Given the description of an element on the screen output the (x, y) to click on. 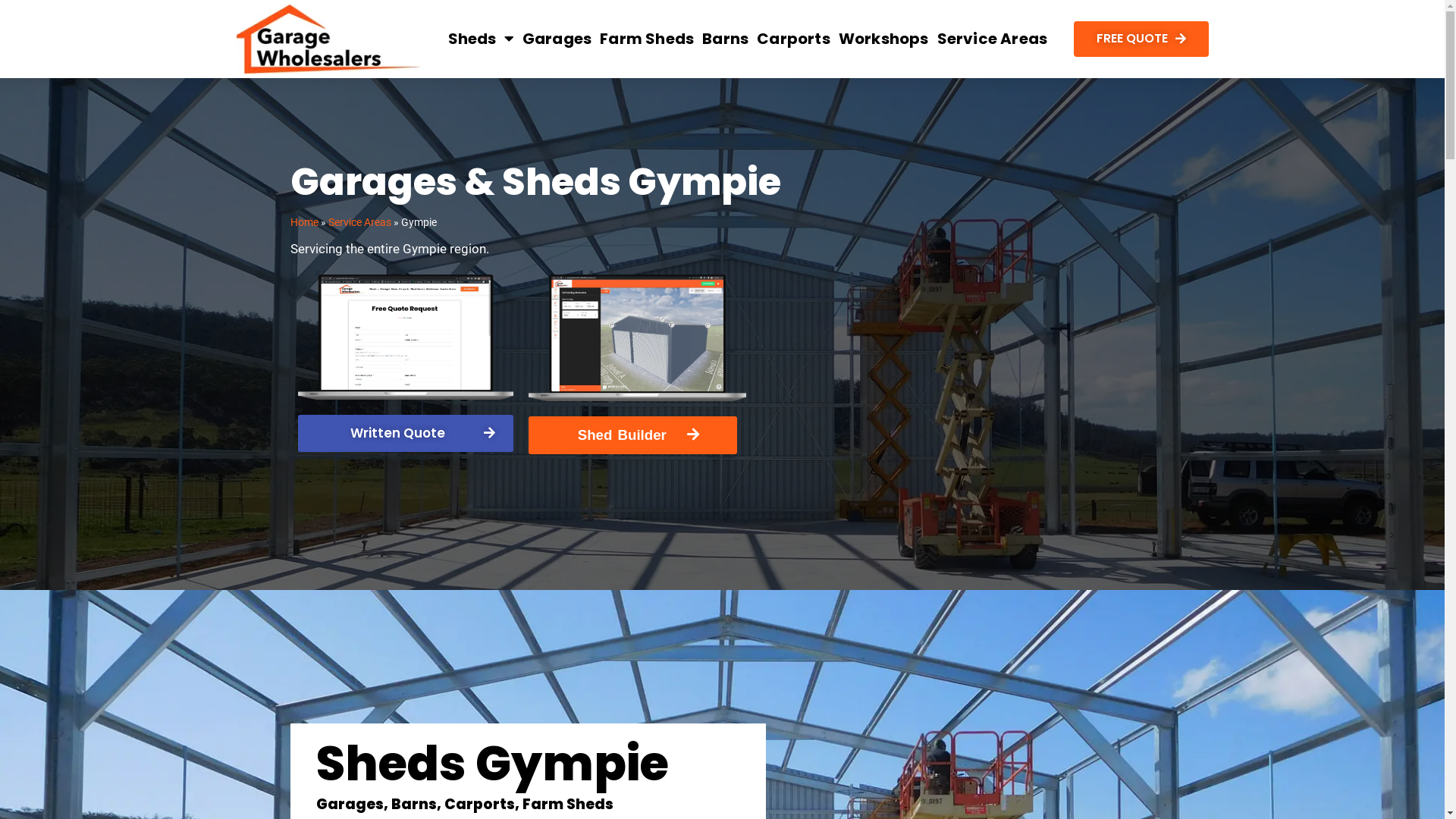
Workshops Element type: text (883, 38)
Sheds Element type: text (480, 38)
Service Areas Element type: text (992, 38)
Carports Element type: text (793, 38)
Garages Element type: text (556, 38)
Home Element type: text (303, 222)
Written Quote Element type: text (404, 433)
Service Areas Element type: text (358, 222)
Farm Sheds Element type: text (646, 38)
Barns Element type: text (725, 38)
FREE QUOTE Element type: text (1140, 38)
Shed Builder Element type: text (632, 435)
